Given the description of an element on the screen output the (x, y) to click on. 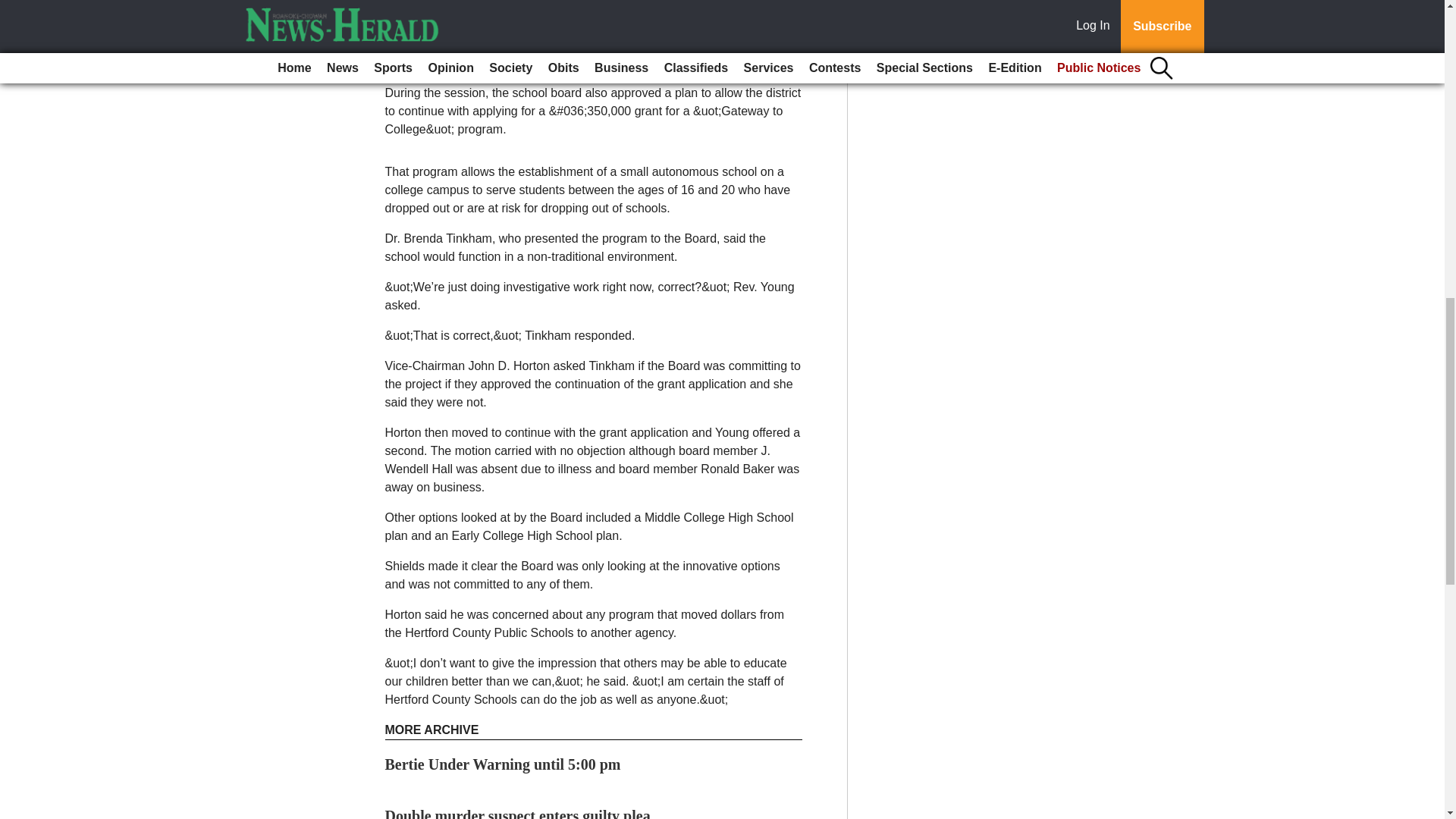
Bertie Under Warning until 5:00 pm (503, 764)
Double murder suspect enters guilty plea (517, 813)
Double murder suspect enters guilty plea (517, 813)
Bertie Under Warning until 5:00 pm (503, 764)
